Given the description of an element on the screen output the (x, y) to click on. 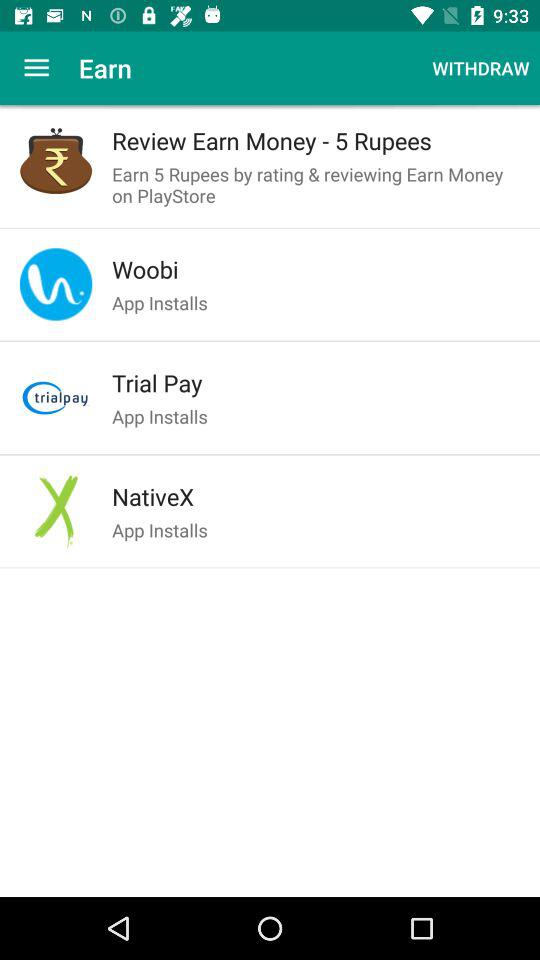
turn on the item next to the earn app (36, 68)
